Given the description of an element on the screen output the (x, y) to click on. 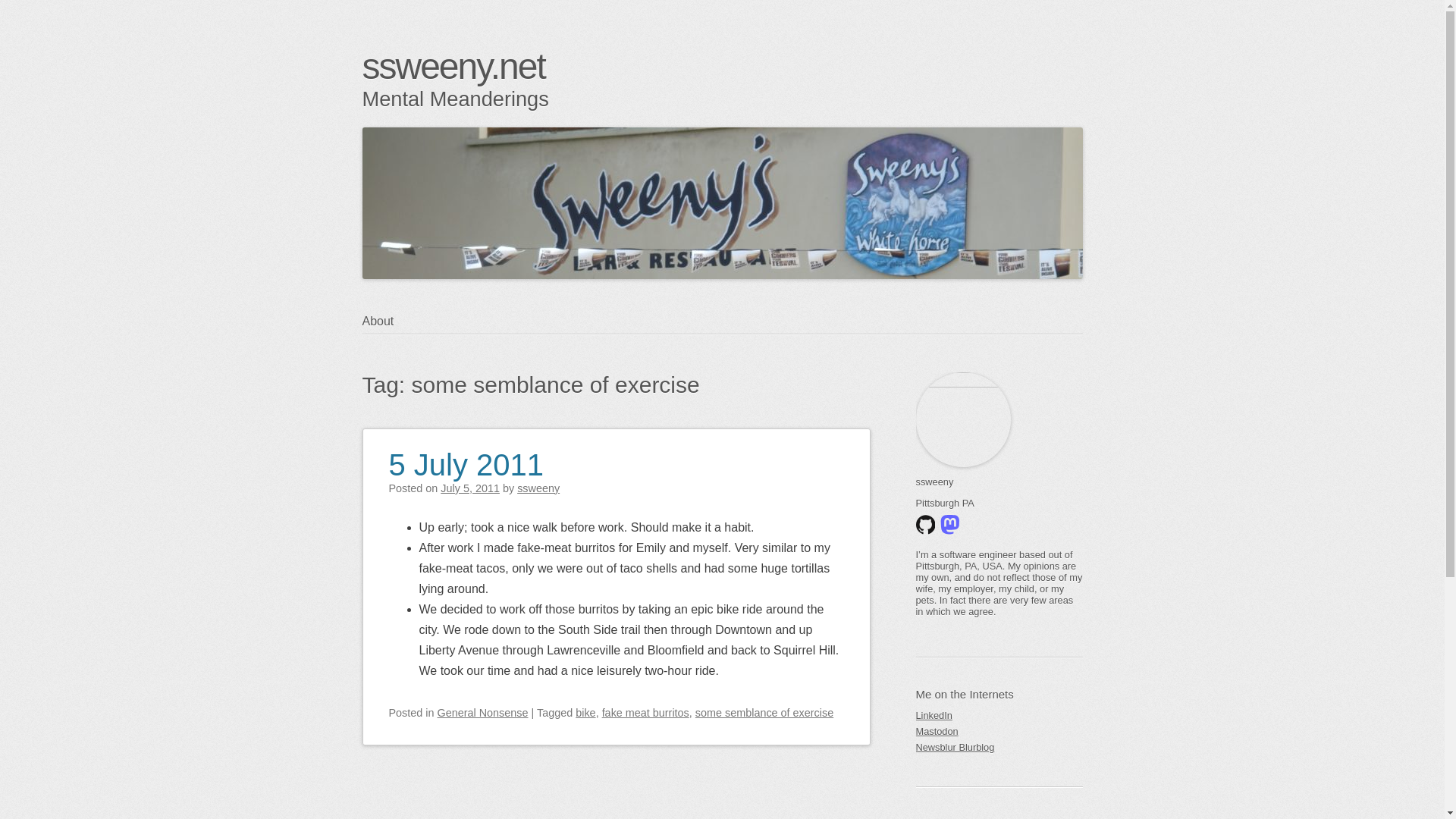
General Nonsense (483, 712)
Mastodon (999, 730)
Main menu (435, 350)
Permalink to 5 July 2011 (465, 455)
Main menu (435, 350)
July 5, 2011 (470, 488)
fake meat burritos (645, 712)
ssweeny.net (453, 65)
some semblance of exercise (763, 712)
LinkedIn (999, 715)
Shared stories from my RSS reader (999, 747)
LinkedIn Profile (999, 715)
ssweeny (537, 488)
